Given the description of an element on the screen output the (x, y) to click on. 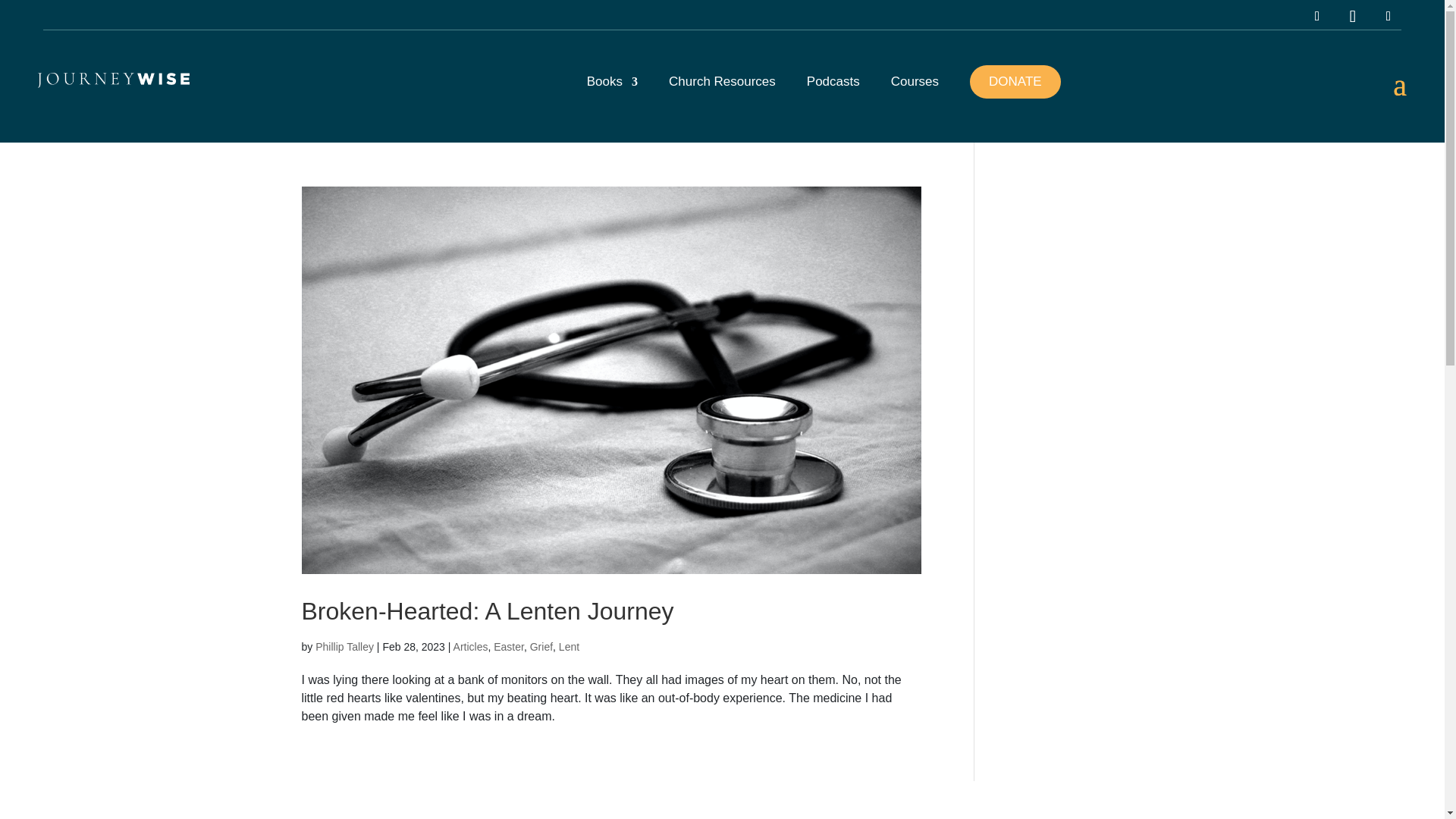
Church Resources (722, 94)
Articles (469, 646)
Easter (508, 646)
Posts by Phillip Talley (344, 646)
Books (611, 94)
Lent (569, 646)
DONATE (1015, 81)
Follow on Instagram (1317, 16)
Phillip Talley (344, 646)
Broken-Hearted: A Lenten Journey (487, 610)
Follow on Facebook (1387, 16)
Podcasts (833, 94)
Follow on Youtube (1353, 16)
Courses (915, 94)
Grief (541, 646)
